Given the description of an element on the screen output the (x, y) to click on. 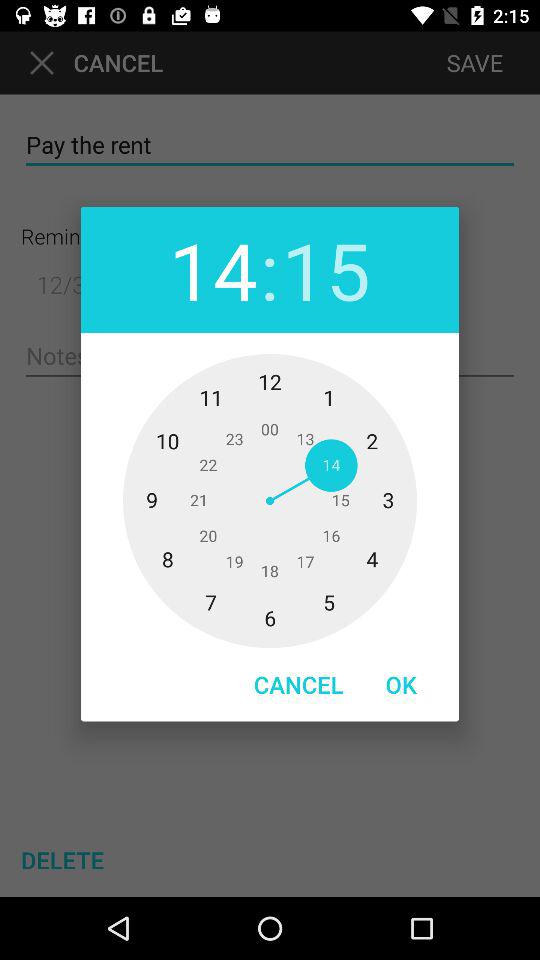
swipe to the 14 item (213, 269)
